Given the description of an element on the screen output the (x, y) to click on. 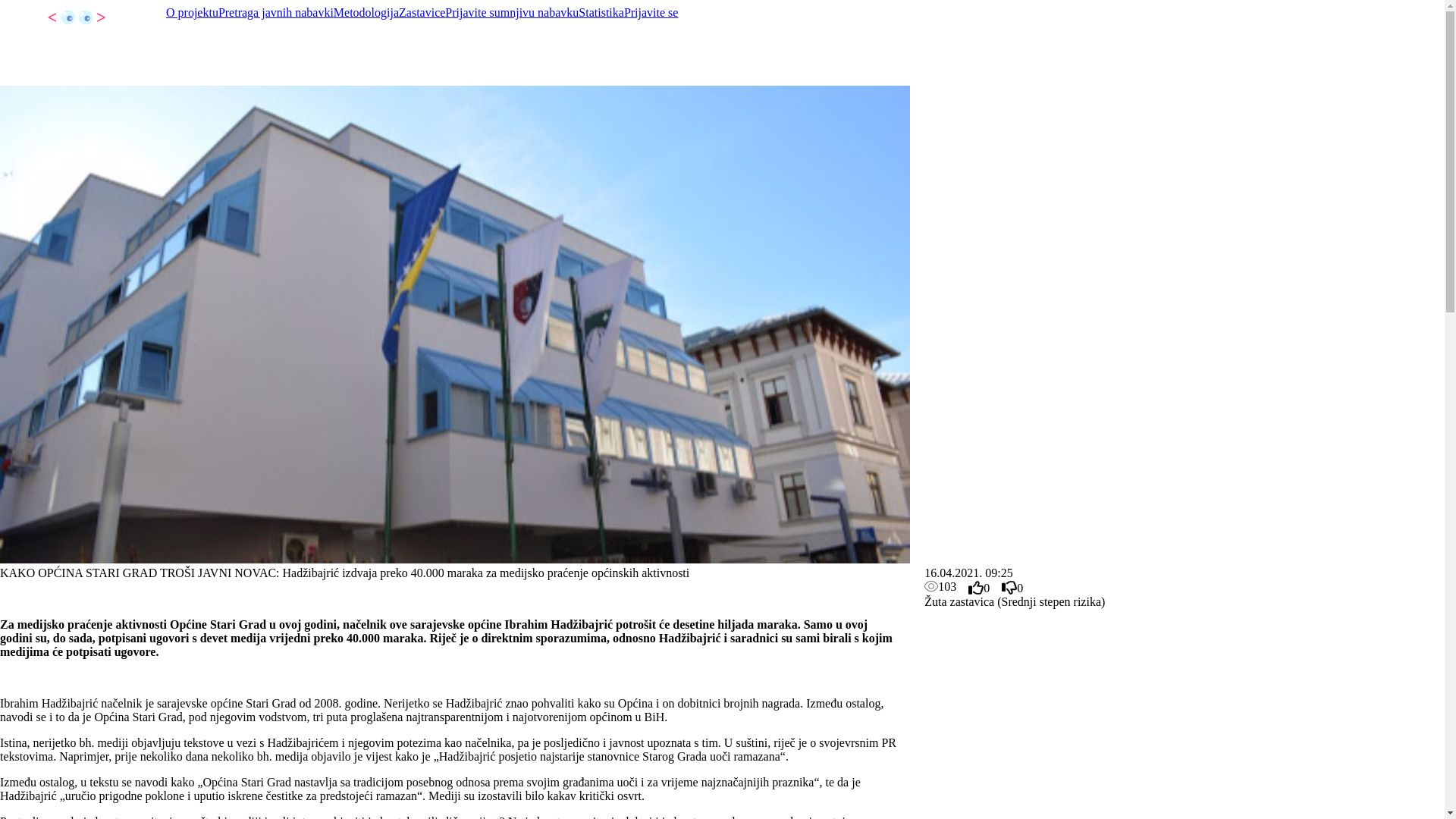
Statistika Element type: text (601, 12)
Zastavice Element type: text (421, 12)
Pretraga javnih nabavki Element type: text (275, 12)
O projektu Element type: text (192, 12)
Metodologija Element type: text (365, 12)
Prijavite se Element type: text (651, 12)
Prijavite sumnjivu nabavku Element type: text (511, 12)
